Given the description of an element on the screen output the (x, y) to click on. 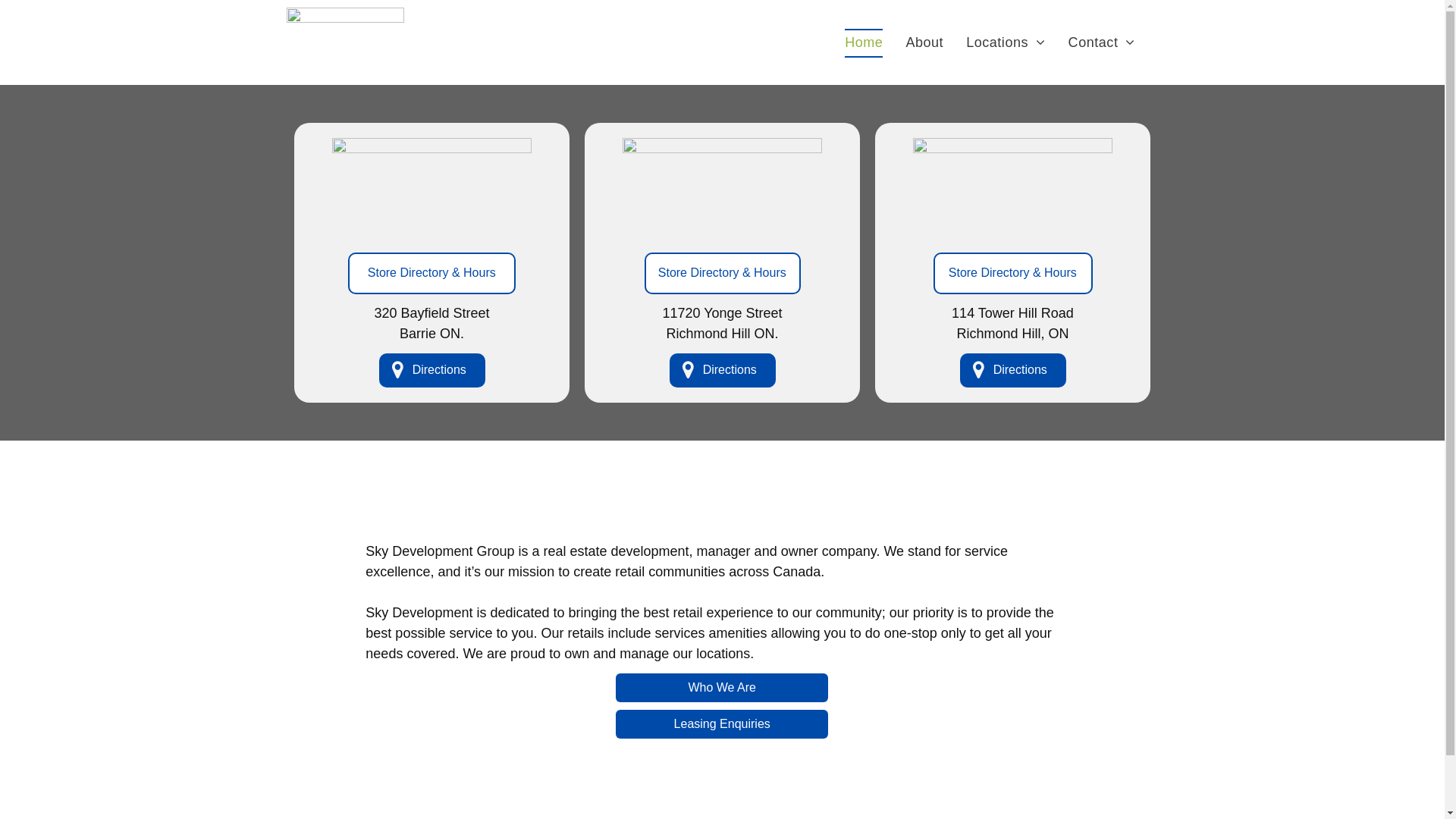
Directions Element type: text (1013, 370)
Store Directory & Hours Element type: text (1012, 273)
Contact Element type: text (1101, 42)
Directions Element type: text (721, 370)
Locations Element type: text (1005, 42)
Who We Are Element type: text (721, 687)
Home Element type: text (863, 42)
Directions Element type: text (432, 370)
Store Directory & Hours Element type: text (722, 273)
About Element type: text (924, 42)
Leasing Enquiries Element type: text (721, 723)
Store Directory & Hours Element type: text (431, 273)
